Given the description of an element on the screen output the (x, y) to click on. 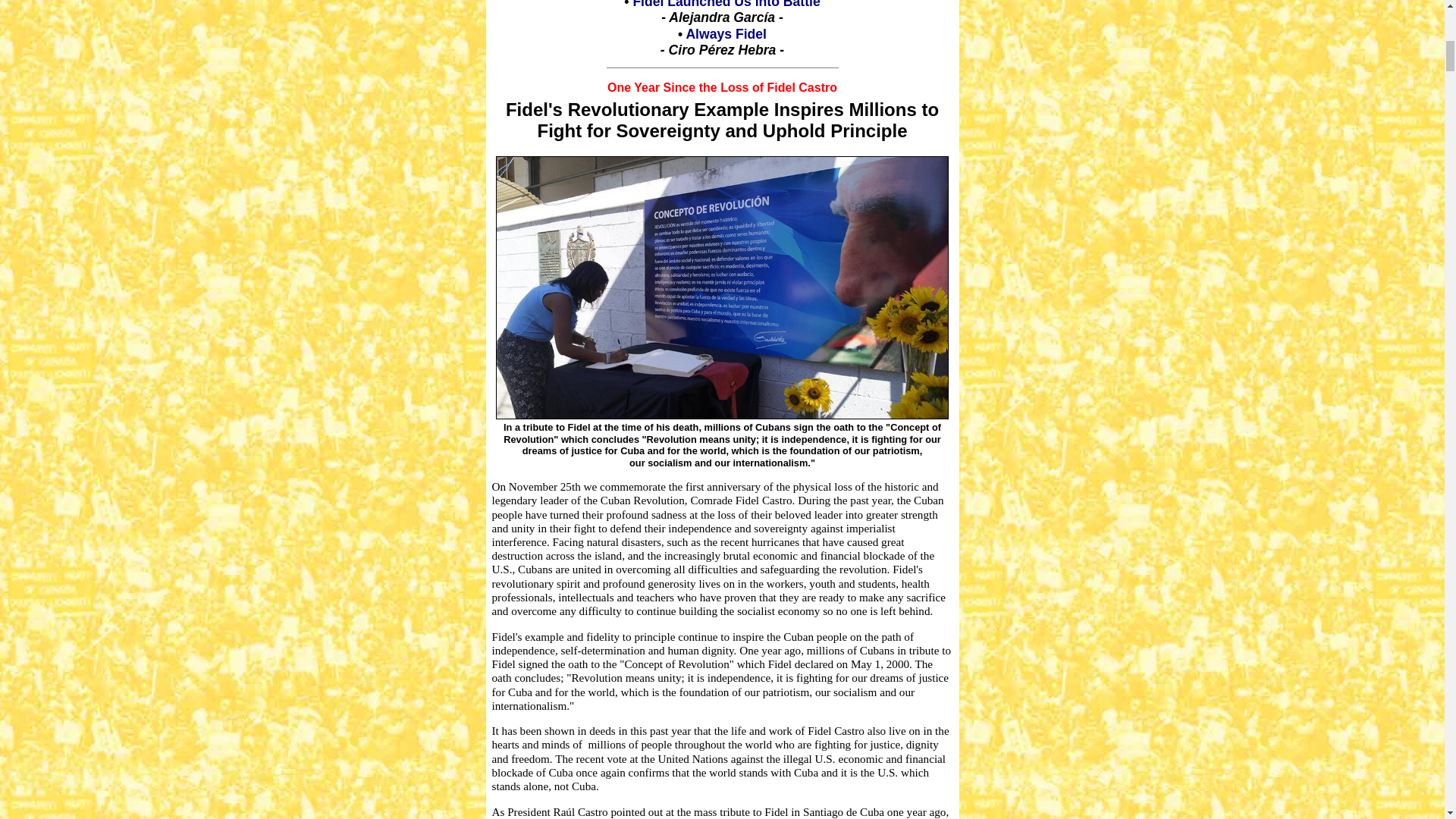
Fidel Launched Us into Battle (725, 4)
Always Fidel (726, 33)
